Given the description of an element on the screen output the (x, y) to click on. 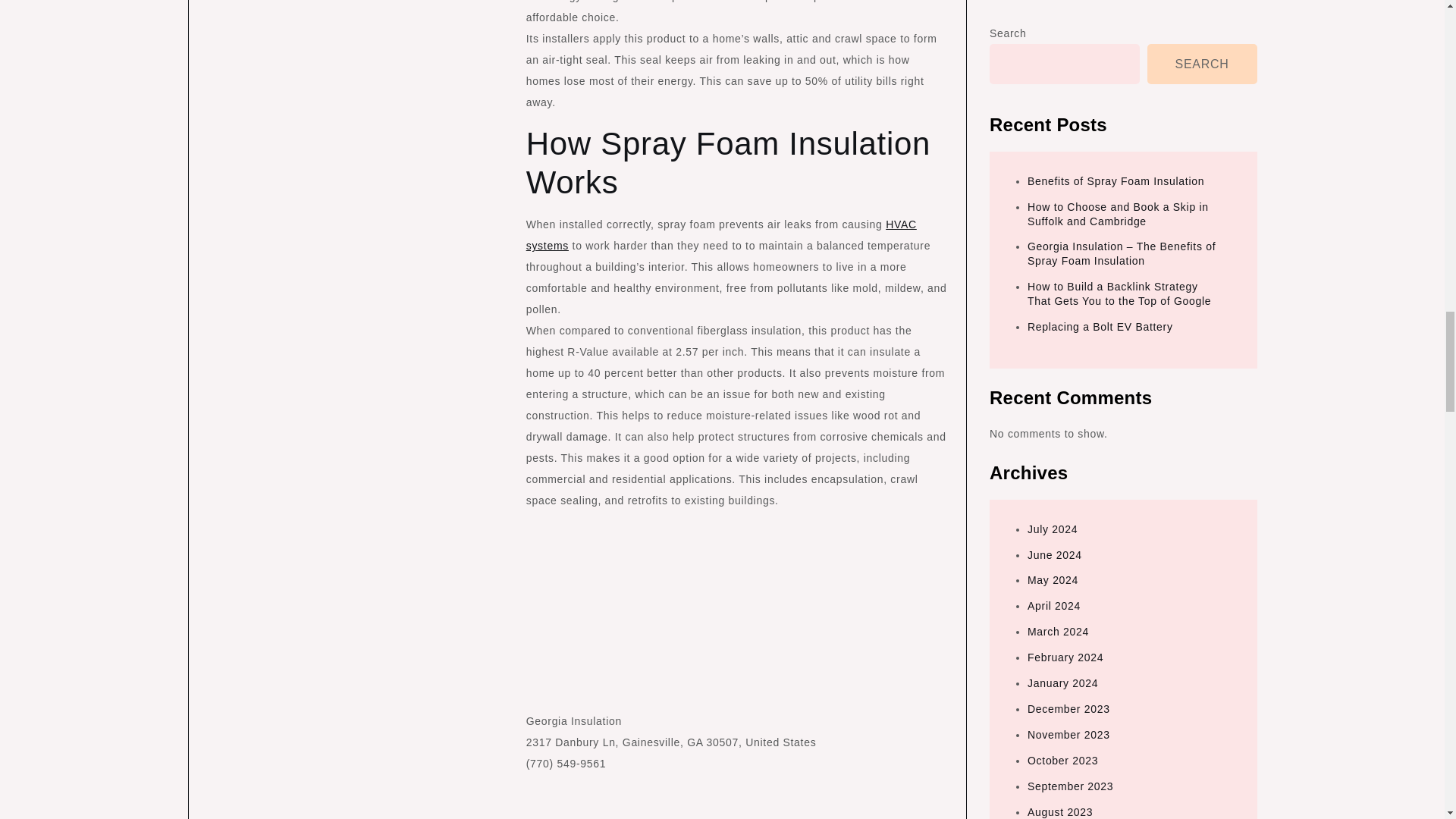
HVAC systems (721, 234)
